Given the description of an element on the screen output the (x, y) to click on. 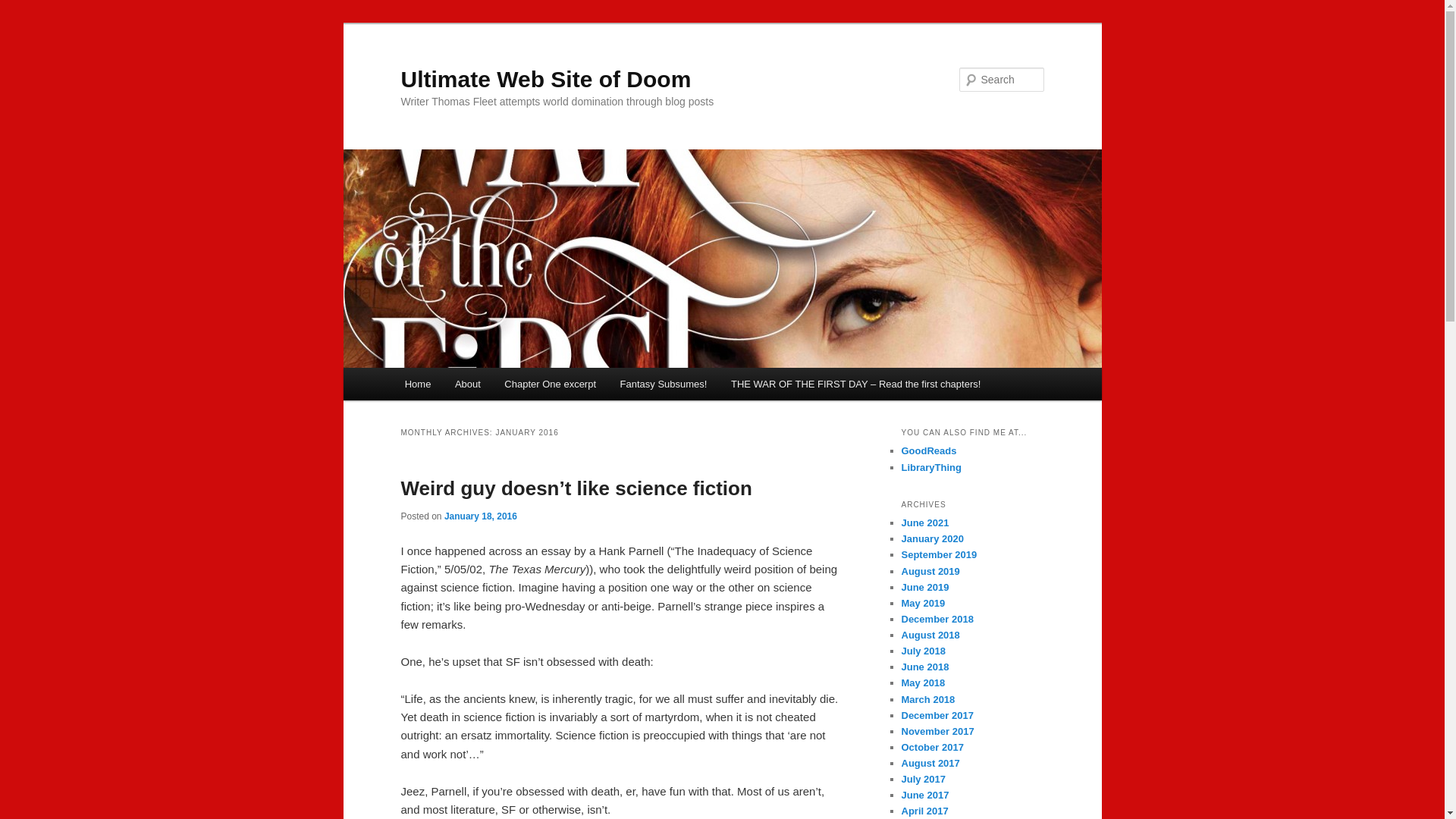
About (467, 383)
Chapter One excerpt (550, 383)
September 2019 (938, 554)
December 2017 (936, 715)
December 2018 (936, 618)
June 2019 (925, 586)
Home (417, 383)
August 2019 (930, 571)
May 2018 (922, 682)
June 2021 (925, 522)
LibraryThing (930, 467)
June 2018 (925, 666)
January 2020 (931, 538)
January 18, 2016 (480, 516)
Ultimate Web Site of Doom (545, 78)
